Given the description of an element on the screen output the (x, y) to click on. 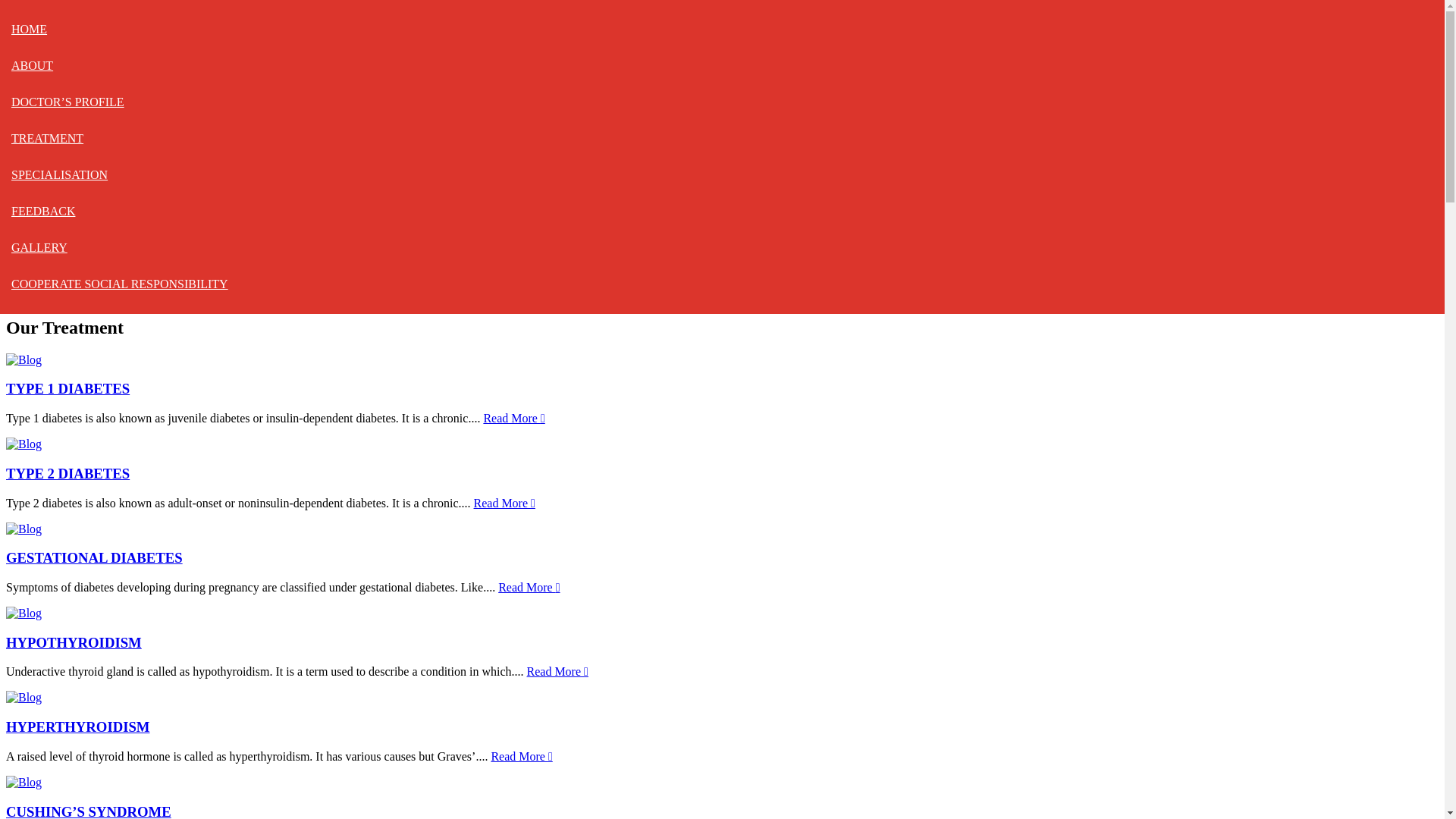
GALLERY (38, 246)
SPECIALISATION (59, 174)
ABOUT (31, 65)
COOPERATE SOCIAL RESPONSIBILITY (119, 283)
Youtube (58, 31)
Facebook (61, 18)
FEEDBACK (43, 210)
TREATMENT (46, 137)
HOME (28, 29)
Phone (53, 45)
